Given the description of an element on the screen output the (x, y) to click on. 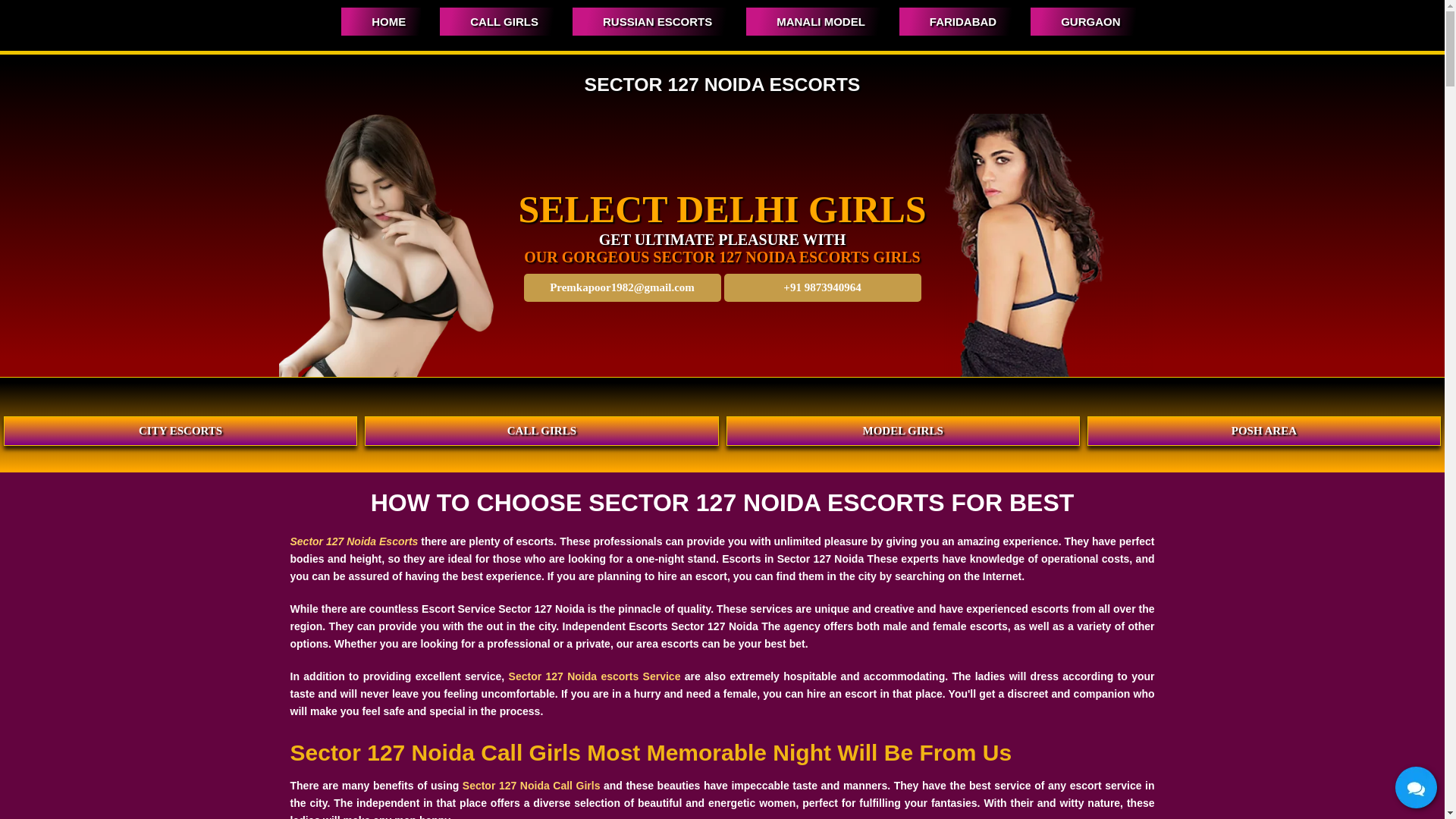
CALL GIRLS (496, 21)
FARIDABAD (955, 21)
GURGAON (1082, 21)
MANALI MODEL (812, 21)
SECTOR 127 NOIDA ESCORTS (722, 84)
RUSSIAN ESCORTS (649, 21)
HOME (380, 21)
